Given the description of an element on the screen output the (x, y) to click on. 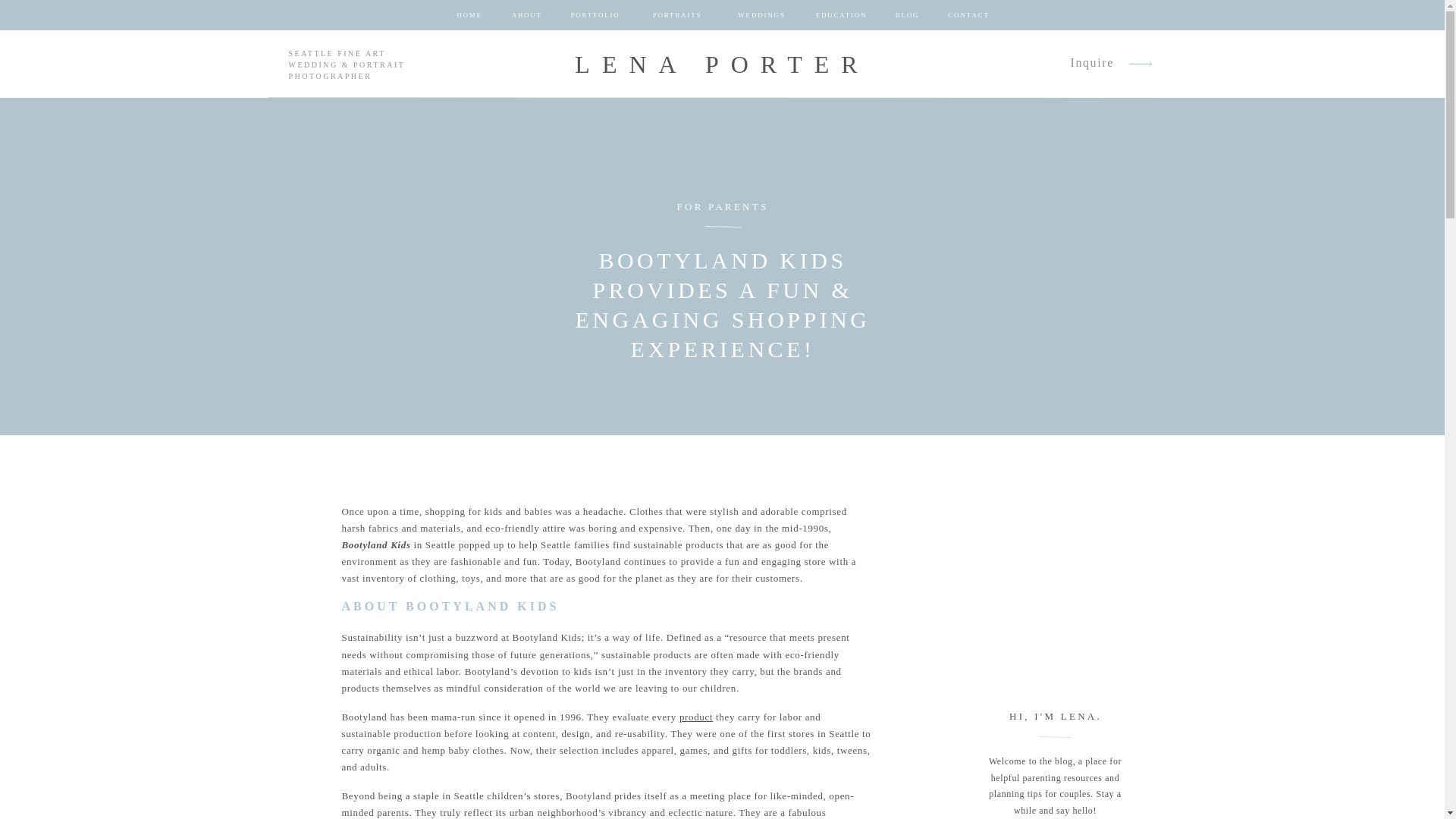
LENA PORTER (721, 64)
Inquire  (1092, 64)
product (696, 716)
EDUCATION (841, 15)
WEDDINGS (761, 15)
PORTRAITS (676, 15)
CONTACT (968, 15)
PORTFOLIO (595, 15)
HOME (468, 15)
arrow (1140, 63)
